Given the description of an element on the screen output the (x, y) to click on. 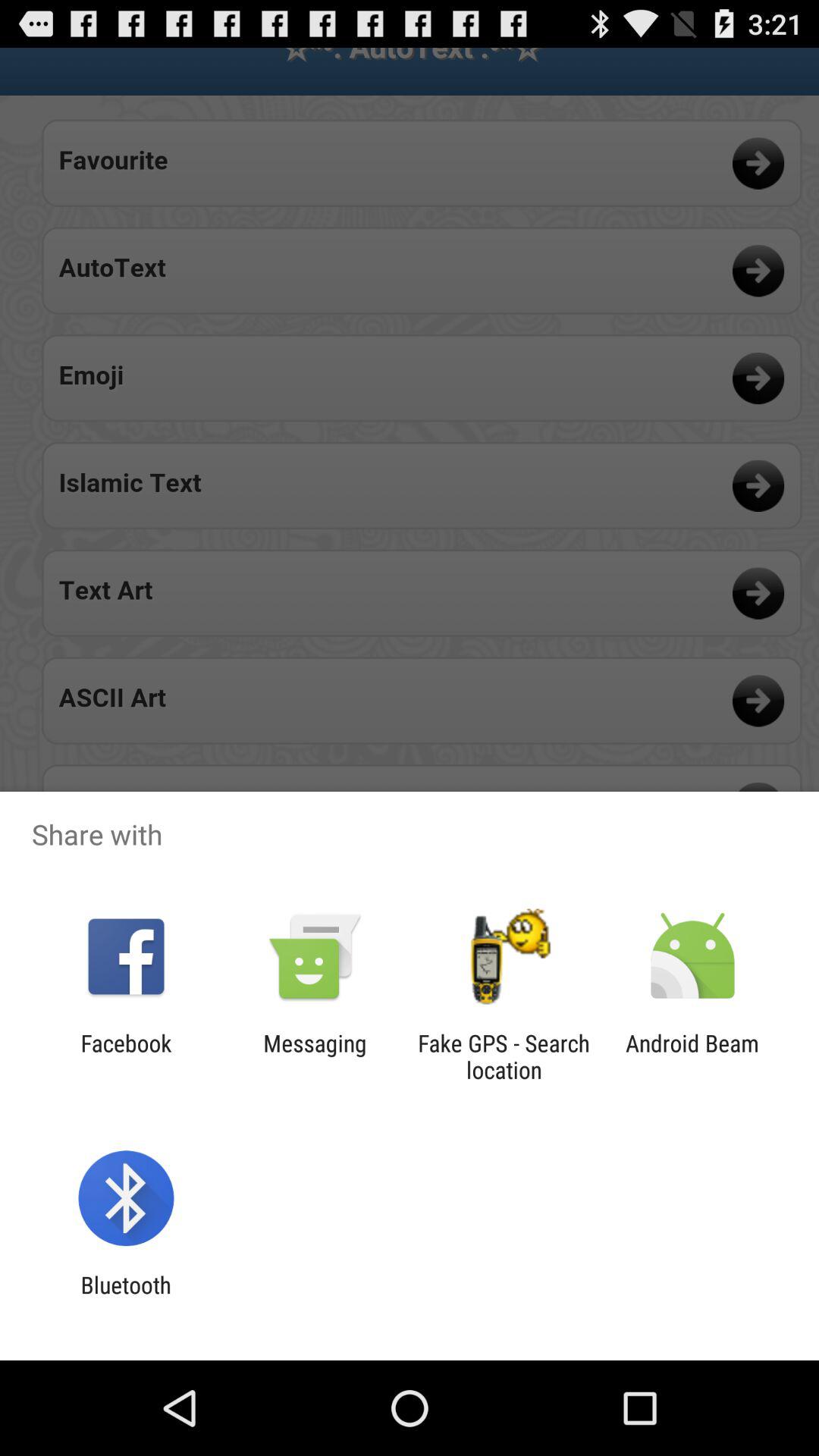
turn on icon next to the messaging (503, 1056)
